Given the description of an element on the screen output the (x, y) to click on. 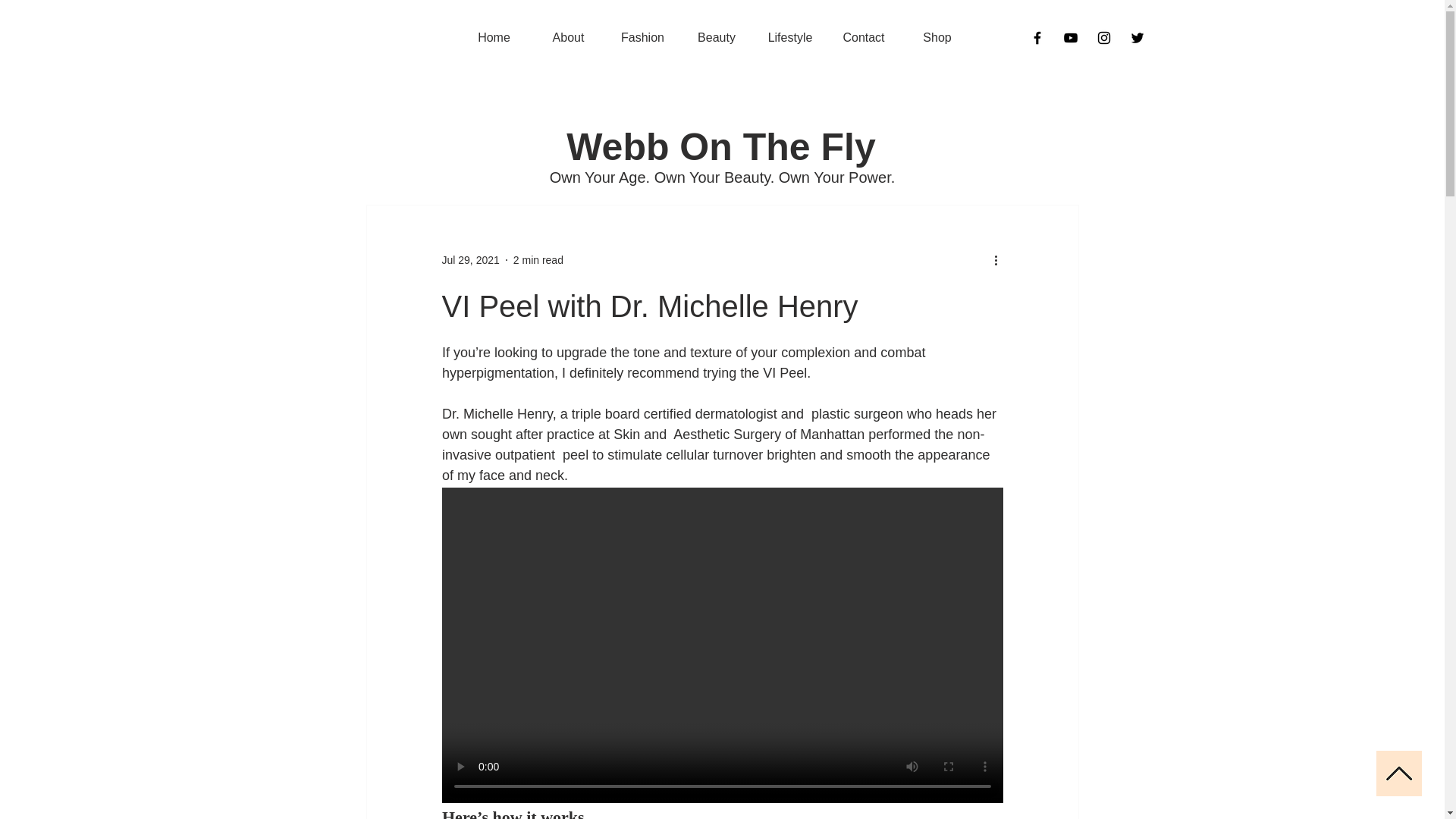
Lifestyle (790, 37)
Contact (863, 37)
Fashion (642, 37)
About (568, 37)
2 min read (538, 259)
Shop (937, 37)
Beauty (715, 37)
Home (494, 37)
Jul 29, 2021 (470, 259)
